Given the description of an element on the screen output the (x, y) to click on. 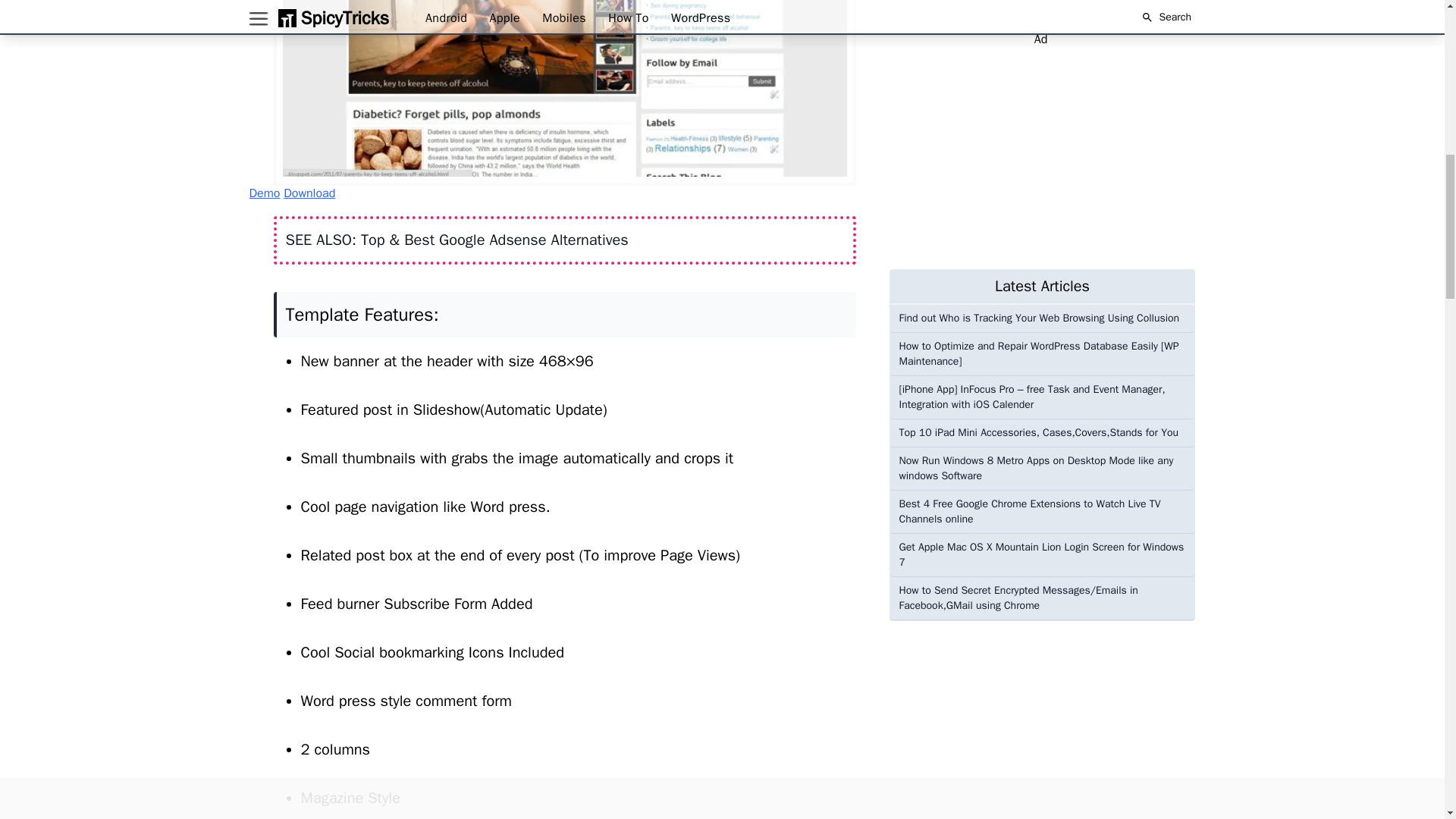
blogshadow-template (564, 92)
Demo (263, 192)
Download (308, 192)
